Given the description of an element on the screen output the (x, y) to click on. 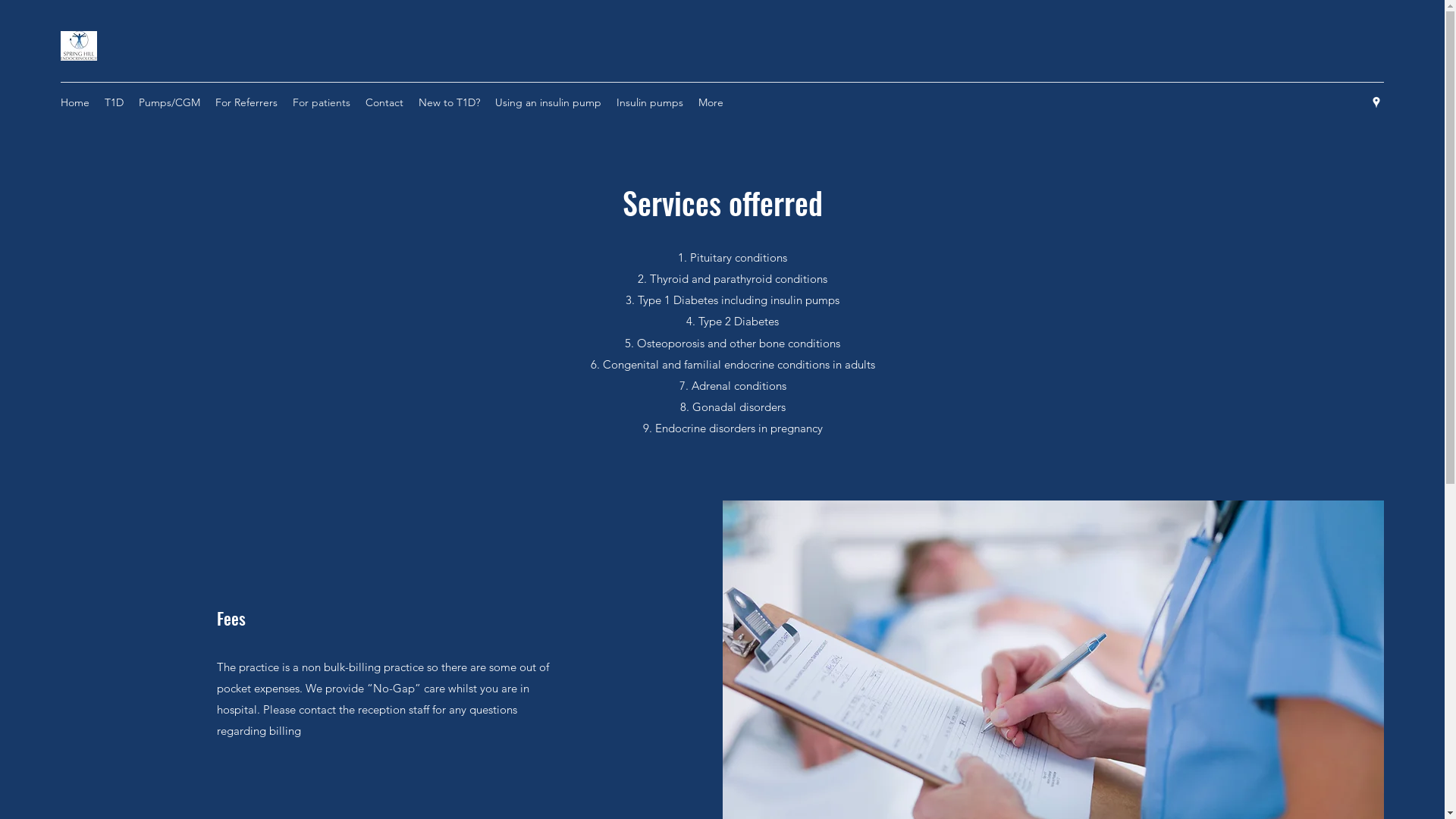
Insulin pumps Element type: text (649, 102)
Using an insulin pump Element type: text (547, 102)
Contact Element type: text (384, 102)
Pumps/CGM Element type: text (169, 102)
T1D Element type: text (114, 102)
Home Element type: text (75, 102)
For patients Element type: text (321, 102)
New to T1D? Element type: text (449, 102)
For Referrers Element type: text (246, 102)
